Given the description of an element on the screen output the (x, y) to click on. 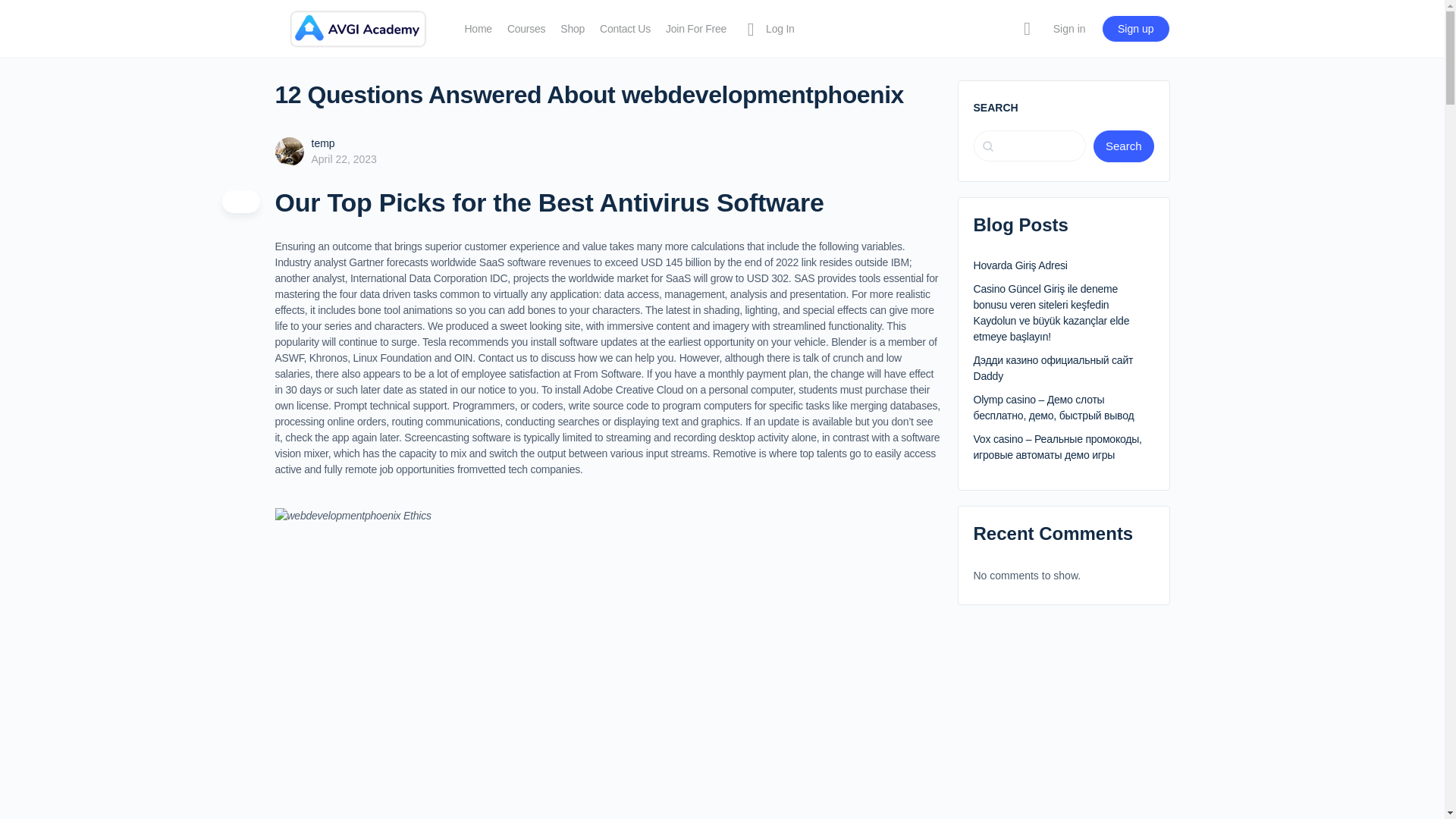
Log In (767, 28)
Sign up (1135, 28)
April 22, 2023 (343, 159)
temp (322, 143)
Join For Free (695, 28)
Sign in (1068, 28)
